Given the description of an element on the screen output the (x, y) to click on. 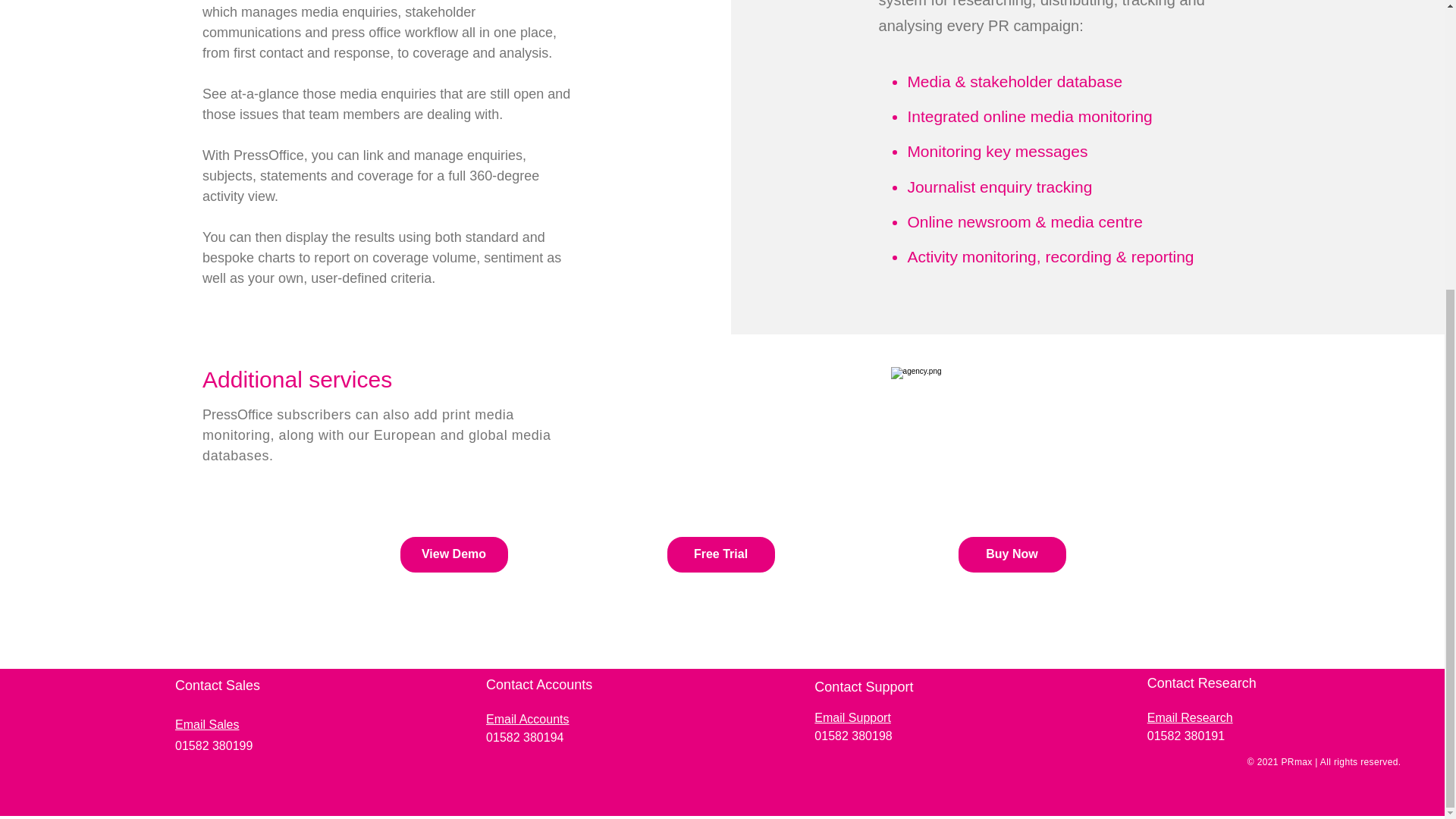
Email Research (1190, 717)
Free Trial (720, 554)
Email Sales (206, 724)
View Demo (454, 554)
Email Support (852, 717)
Email Accounts (527, 718)
Buy Now (1011, 554)
